Given the description of an element on the screen output the (x, y) to click on. 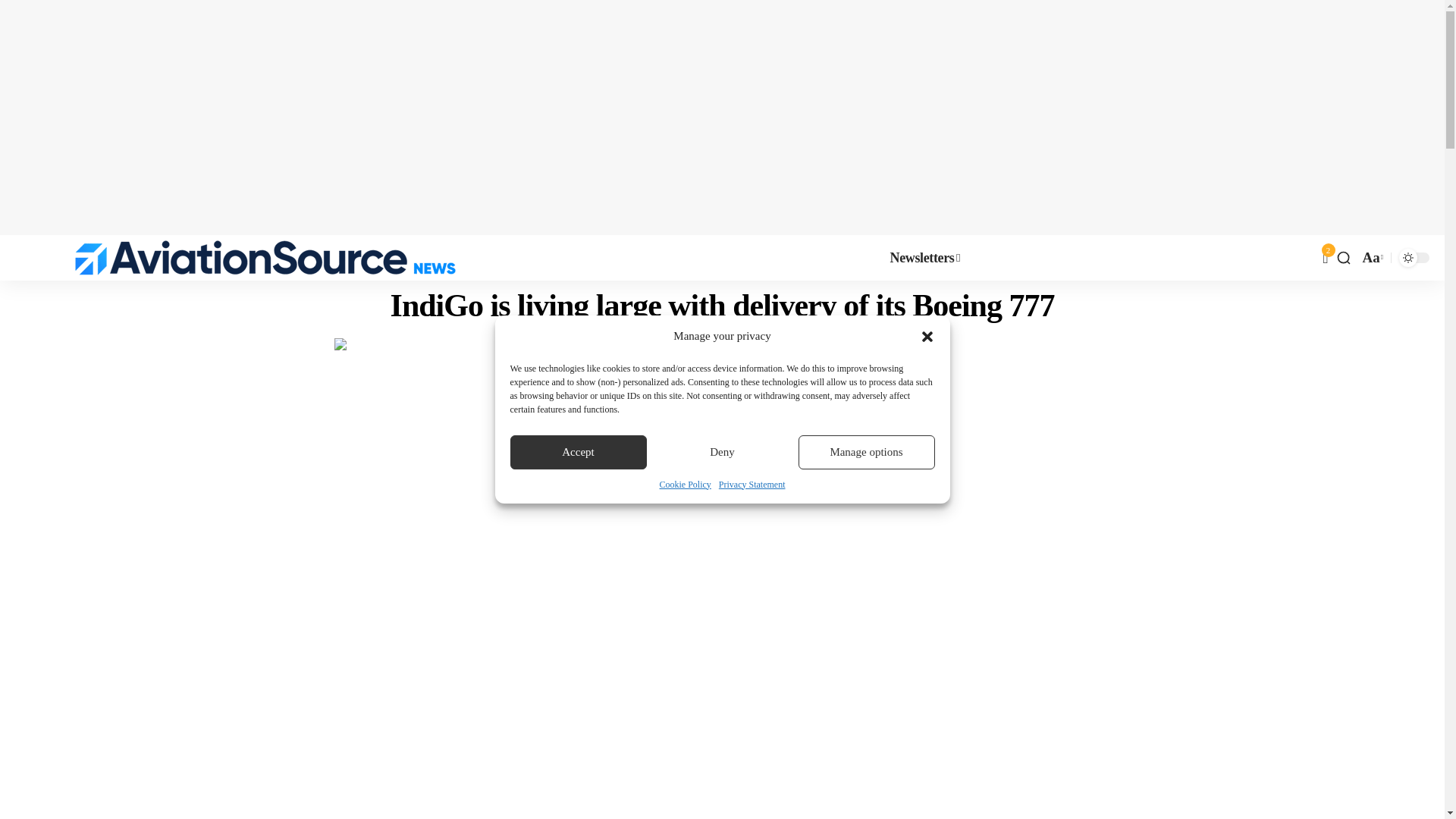
Cookie Policy (685, 484)
Manage options (865, 451)
Deny (721, 451)
Privacy Statement (752, 484)
Aa (1371, 257)
Accept (577, 451)
Newsletters (924, 257)
AviationSource News (264, 257)
